Given the description of an element on the screen output the (x, y) to click on. 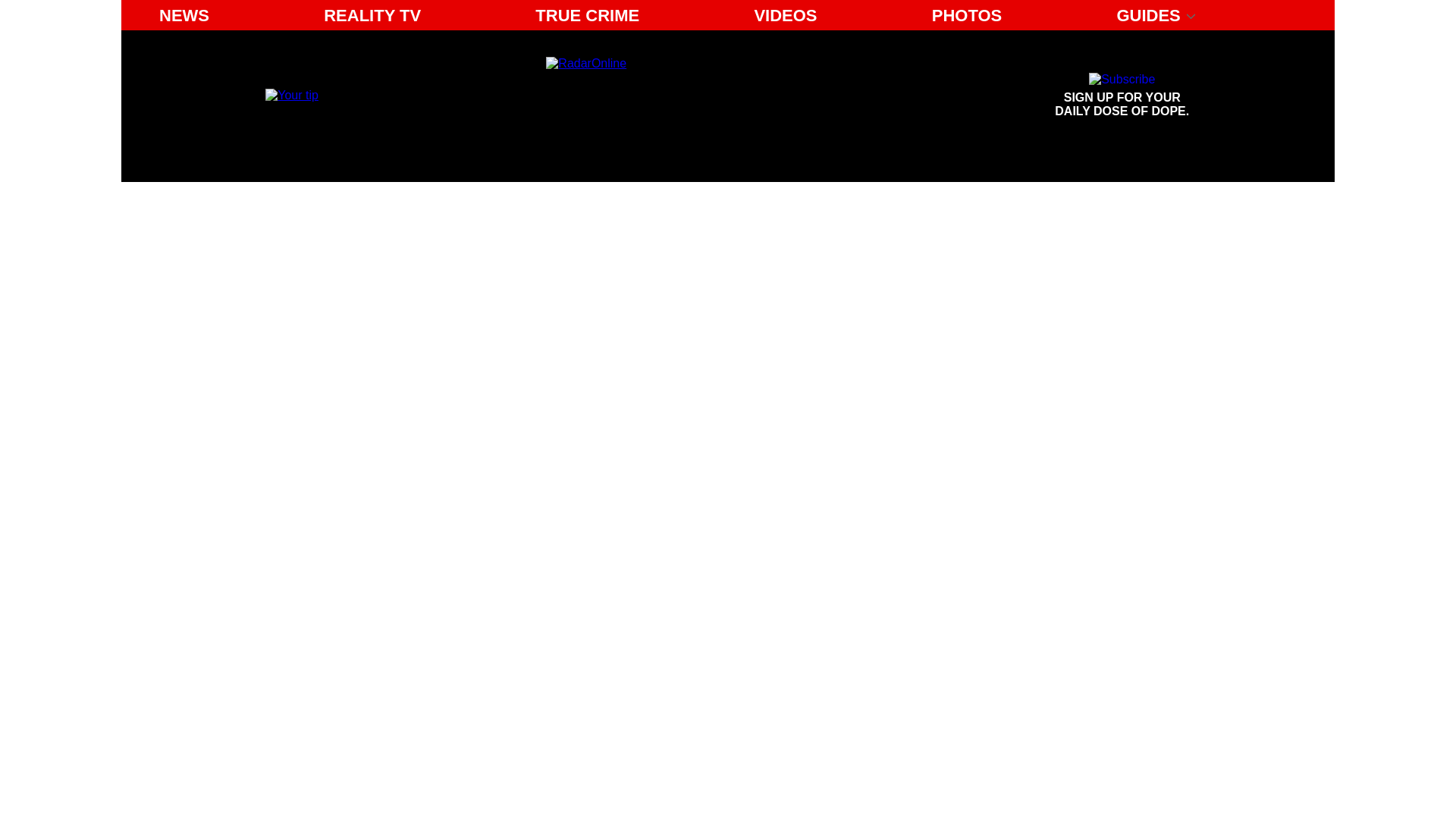
PHOTOS (967, 15)
Radar Online (685, 95)
REALITY TV (371, 15)
TRUE CRIME (586, 15)
VIDEOS (784, 15)
NEWS (183, 15)
Email us your tip (1122, 94)
Sign up for your daily dose of dope. (291, 94)
